Given the description of an element on the screen output the (x, y) to click on. 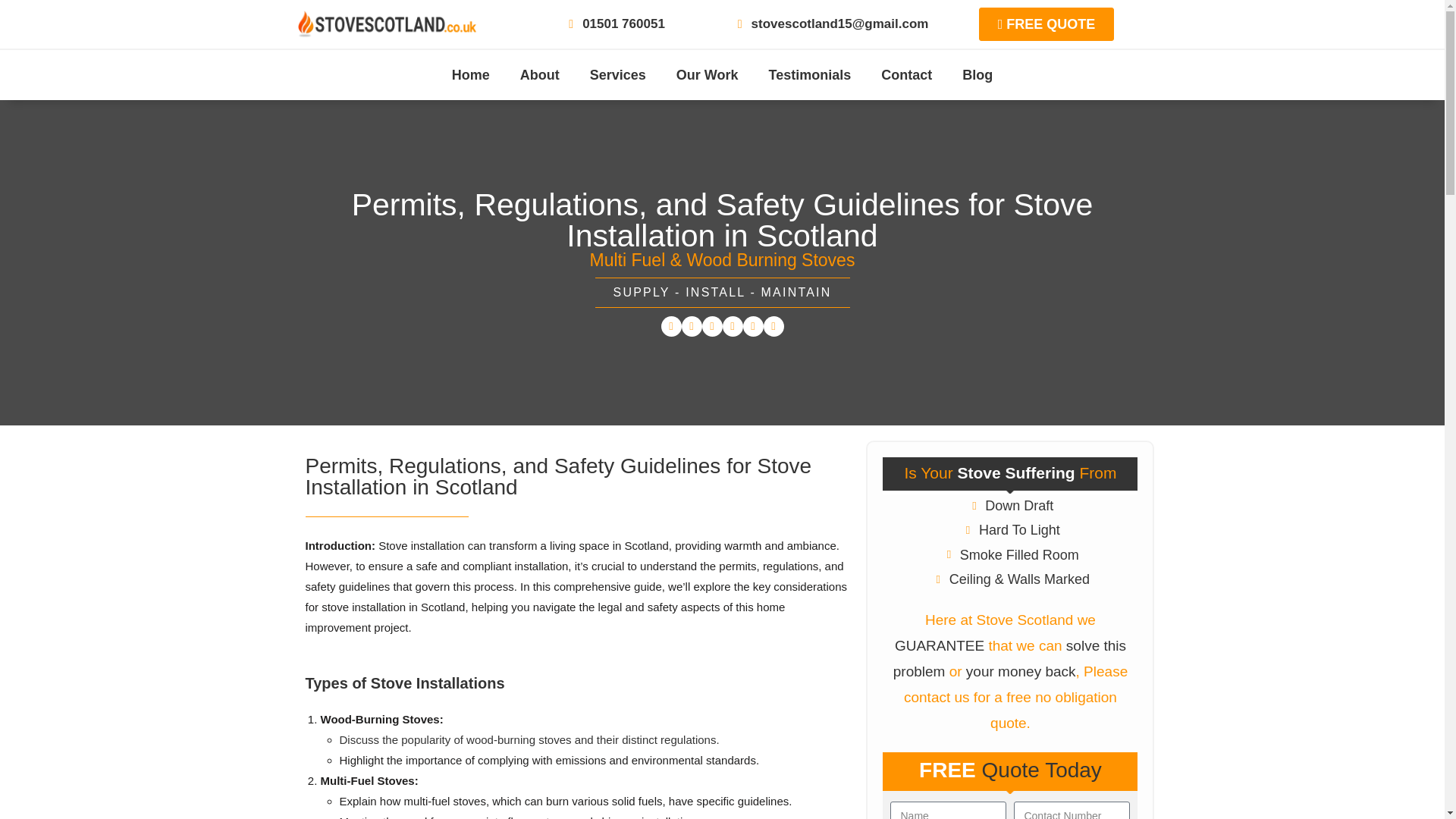
About (540, 74)
Our Work (707, 74)
FREE QUOTE (1046, 23)
Contact (906, 74)
Testimonials (810, 74)
01501 760051 (613, 24)
Services (618, 74)
Home (470, 74)
Blog (977, 74)
